Given the description of an element on the screen output the (x, y) to click on. 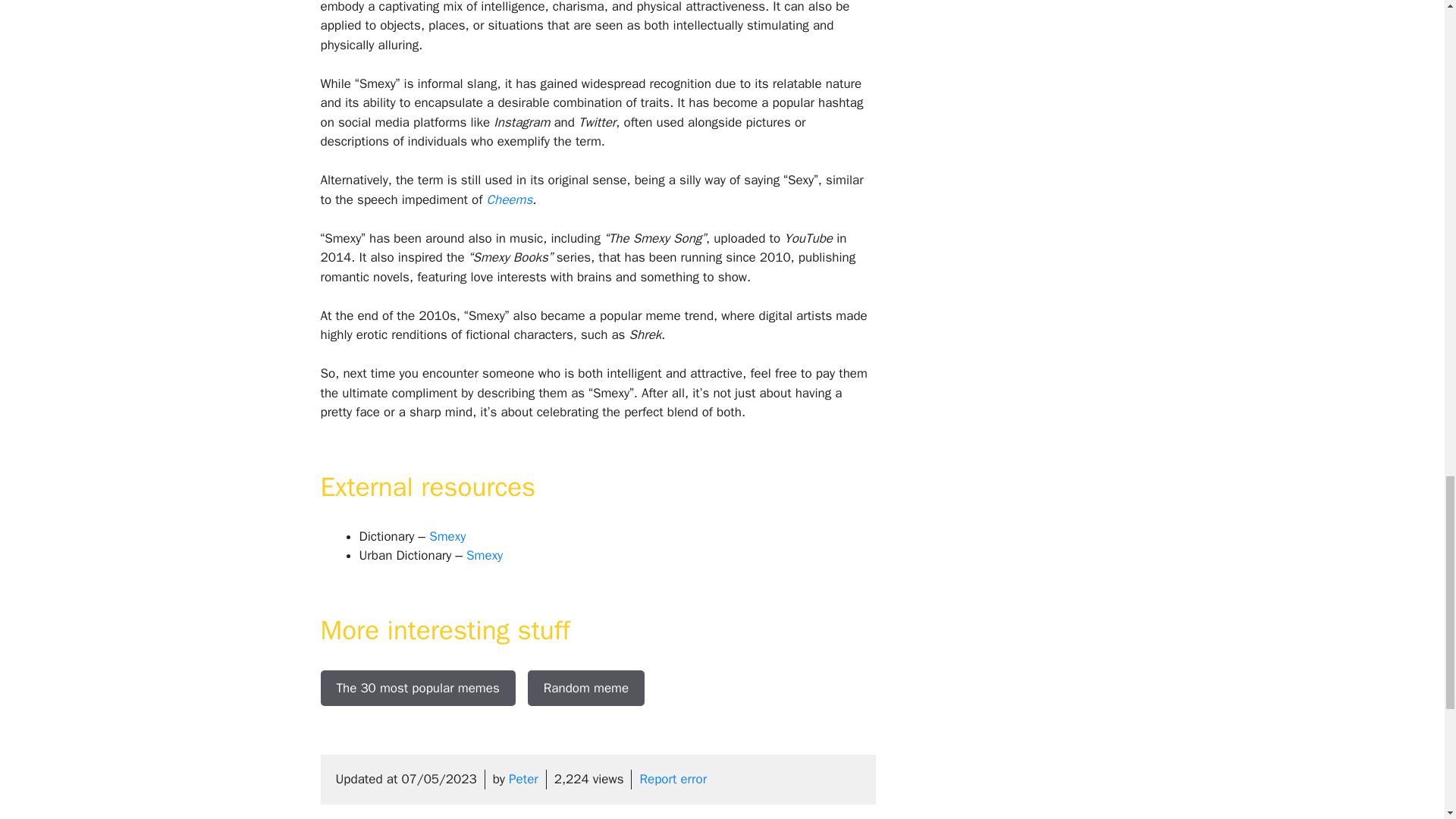
Smexy (483, 555)
The 30 most popular memes (417, 688)
Cheems (509, 199)
Report error (672, 779)
Random meme (586, 688)
Peter (523, 779)
Smexy (447, 536)
